Given the description of an element on the screen output the (x, y) to click on. 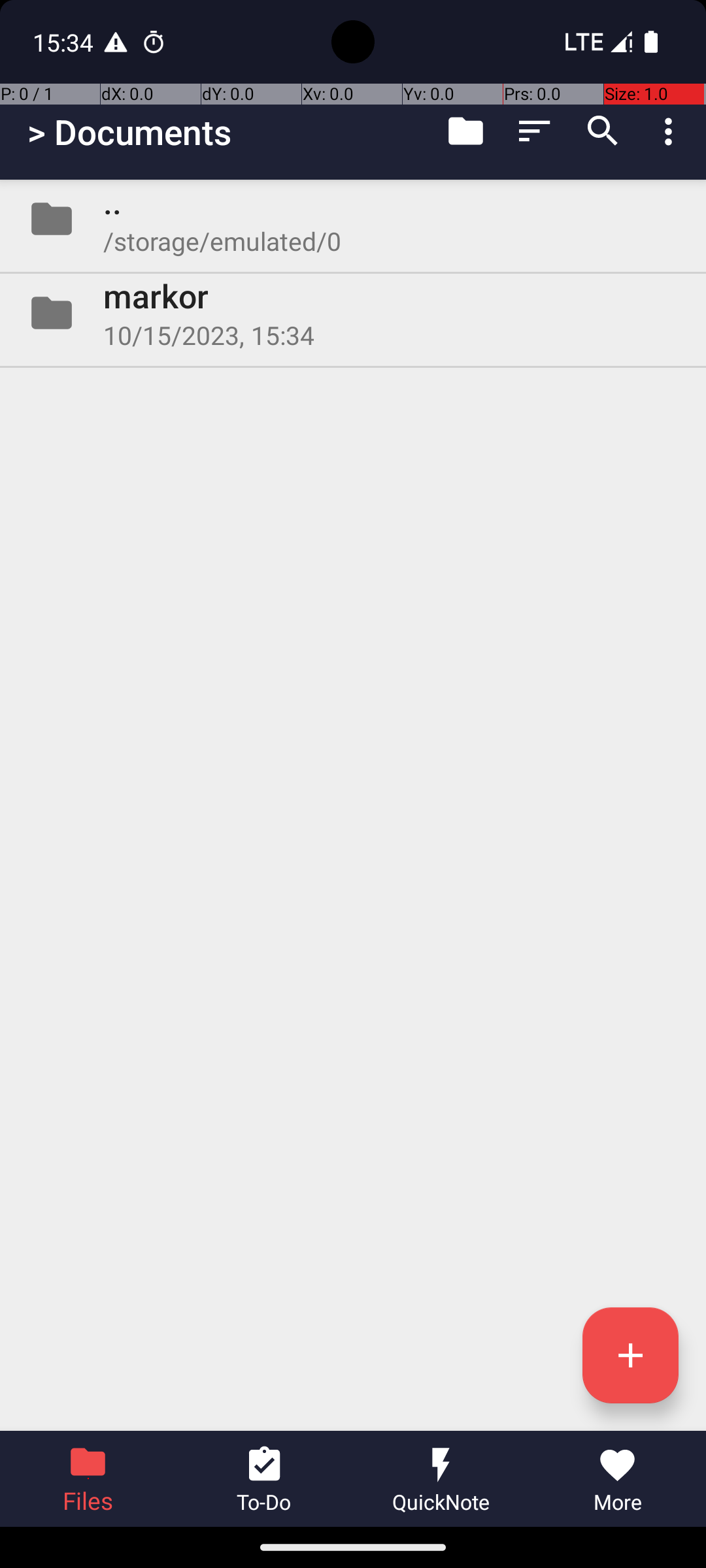
> Documents Element type: android.widget.TextView (129, 131)
Folder .. /storage/emulated/0/Documents Element type: android.widget.LinearLayout (353, 218)
Folder markor  Element type: android.widget.LinearLayout (353, 312)
